Given the description of an element on the screen output the (x, y) to click on. 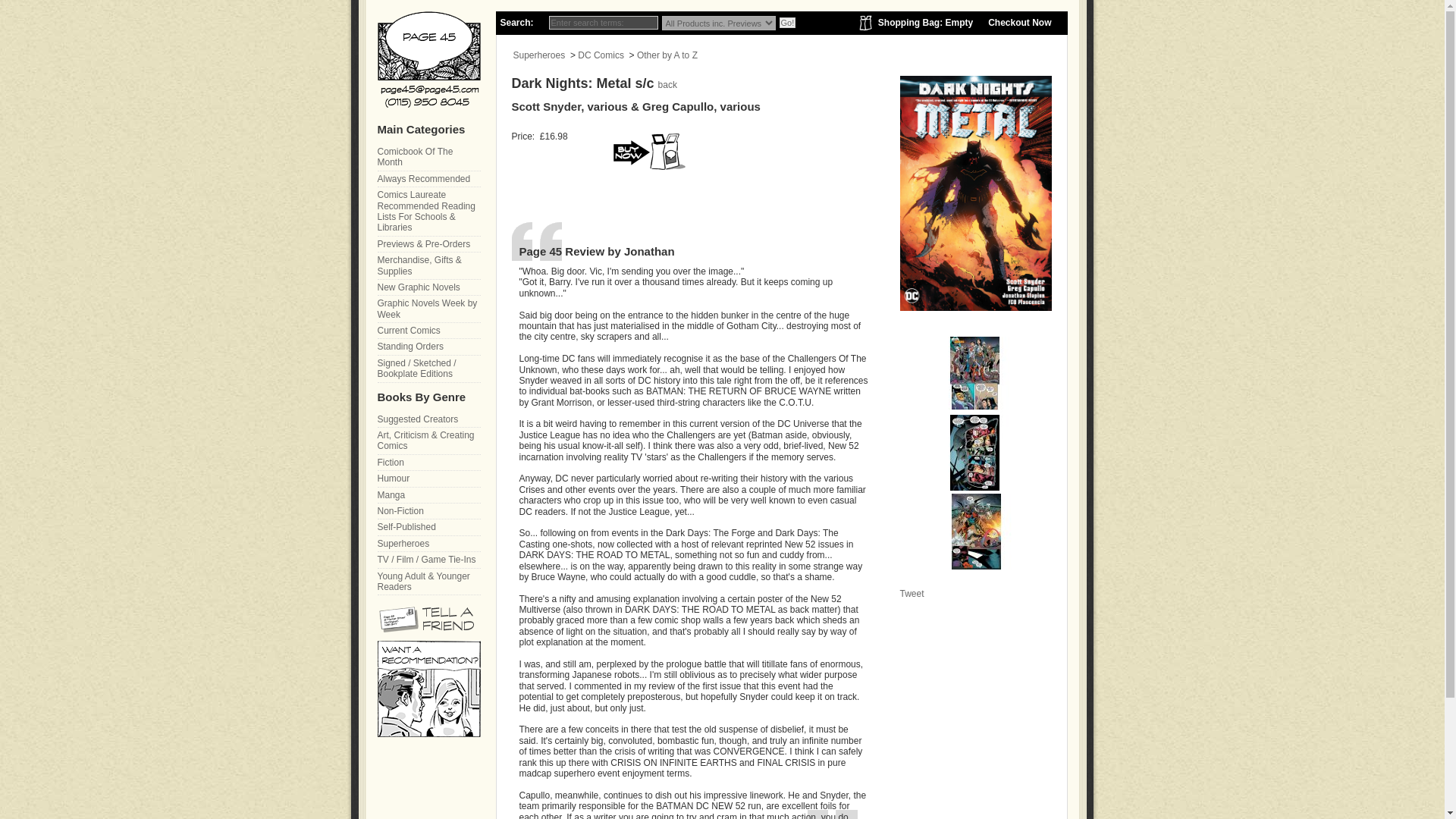
Humour (428, 478)
Self-Published (428, 527)
Ask Page 45 for a recommendation (428, 733)
New Graphic Novels (428, 287)
View Your Shopping Bag (924, 22)
Suggested Creators (428, 419)
Superheroes (428, 544)
Superheroes (538, 54)
Manga (428, 495)
Go! (787, 22)
Graphic Novels Week by Week (428, 308)
DC Comics (601, 54)
Standing Orders (428, 346)
Other by A to Z (667, 54)
Go! (787, 22)
